Given the description of an element on the screen output the (x, y) to click on. 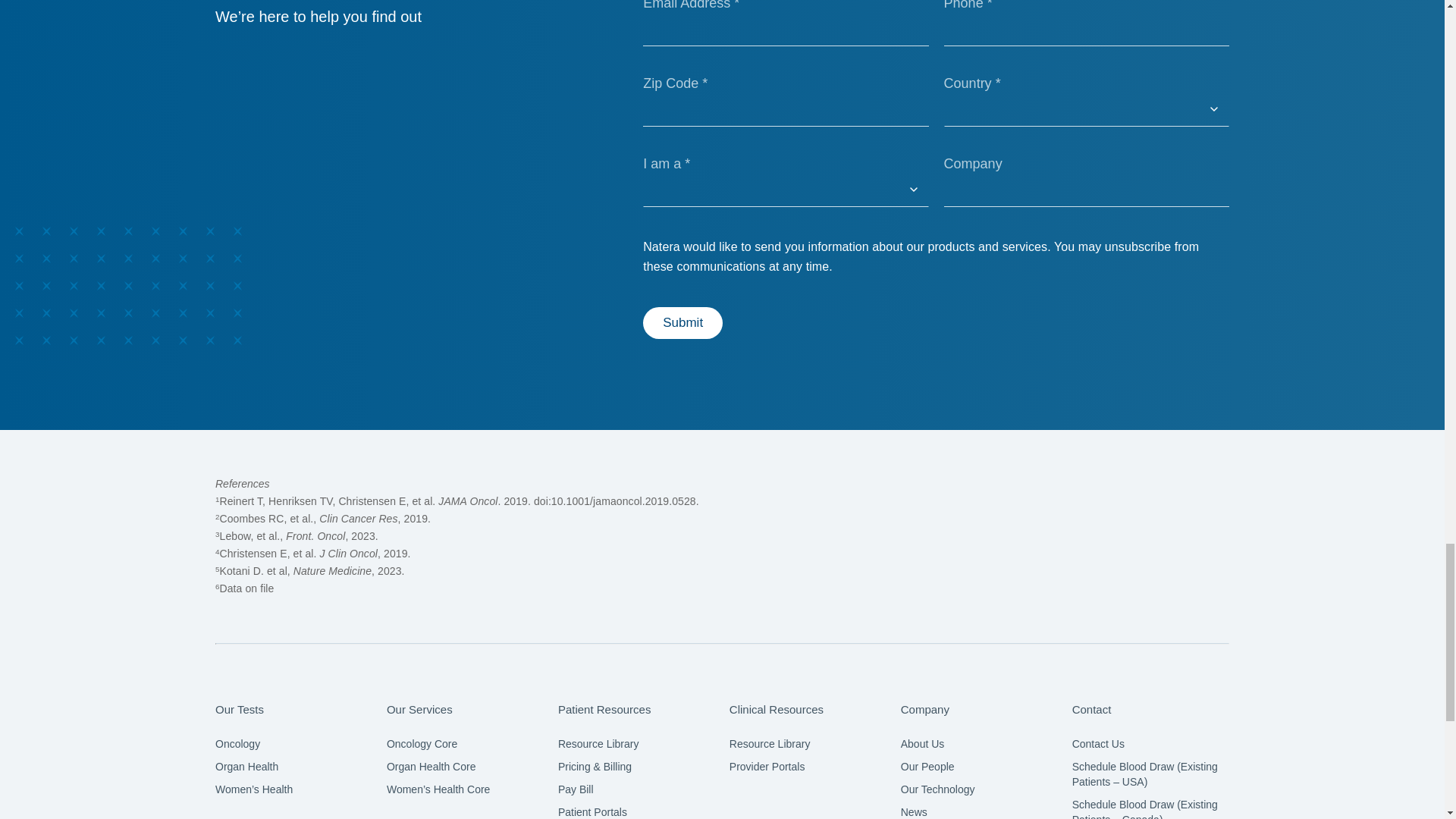
Submit (682, 323)
